Given the description of an element on the screen output the (x, y) to click on. 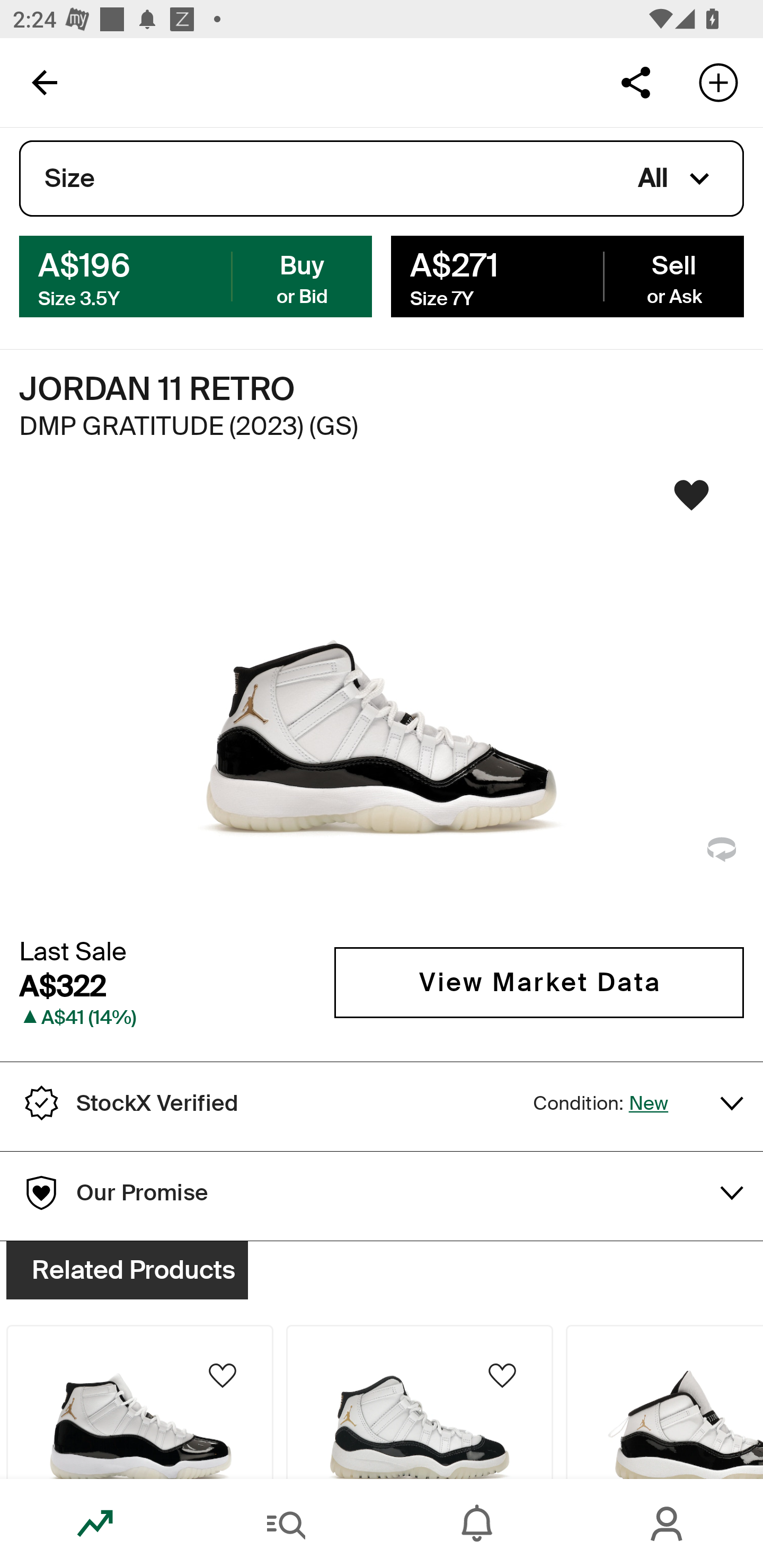
Share (635, 81)
Add (718, 81)
Size All (381, 178)
A$196 Buy Size 3.5Y or Bid (195, 275)
A$271 Sell Size 7Y or Ask (566, 275)
View Market Data (538, 982)
Product Image (139, 1401)
Product Image (419, 1401)
Product Image (664, 1401)
Search (285, 1523)
Inbox (476, 1523)
Account (667, 1523)
